Given the description of an element on the screen output the (x, y) to click on. 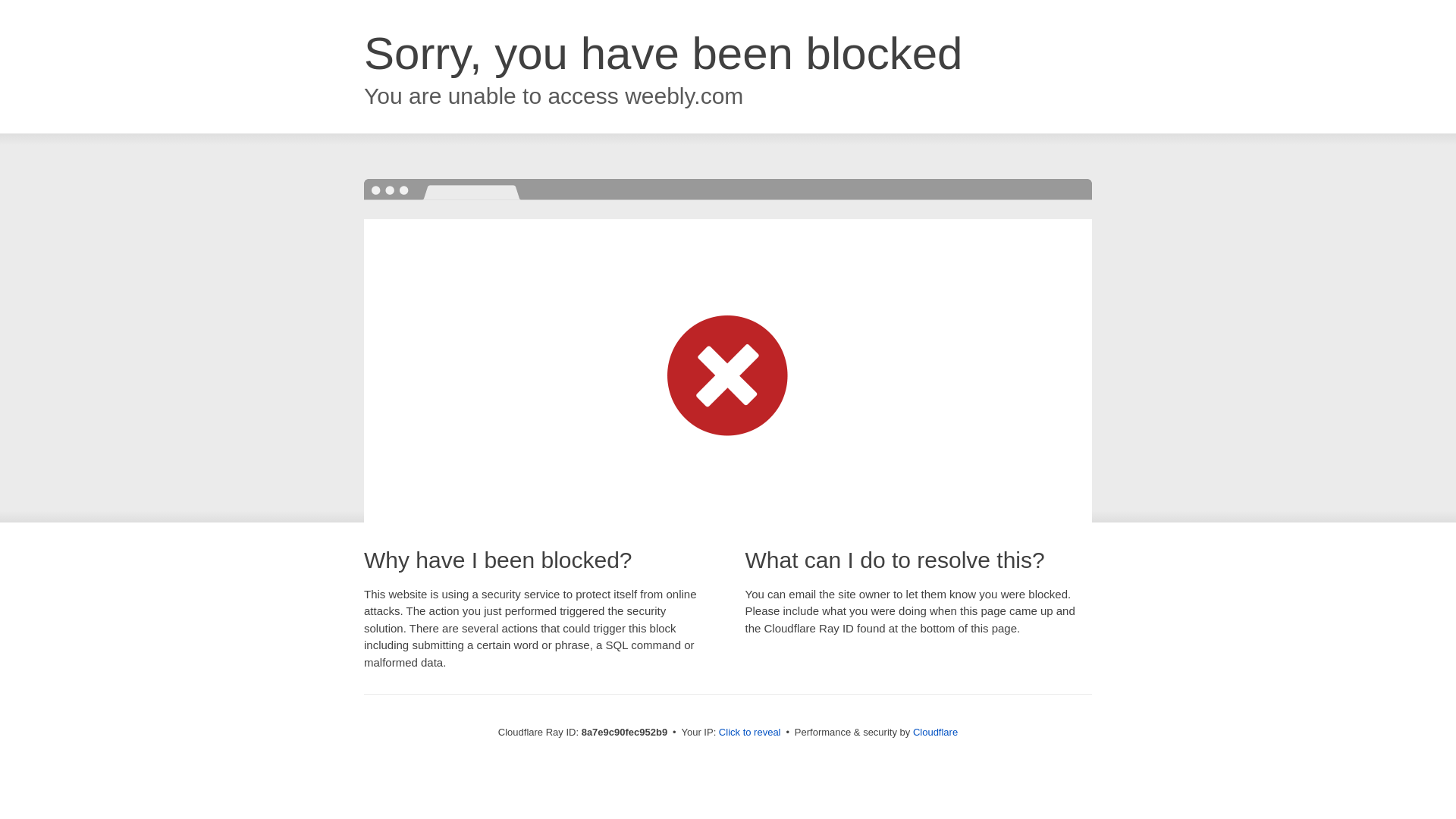
Cloudflare (935, 731)
Click to reveal (749, 732)
